Given the description of an element on the screen output the (x, y) to click on. 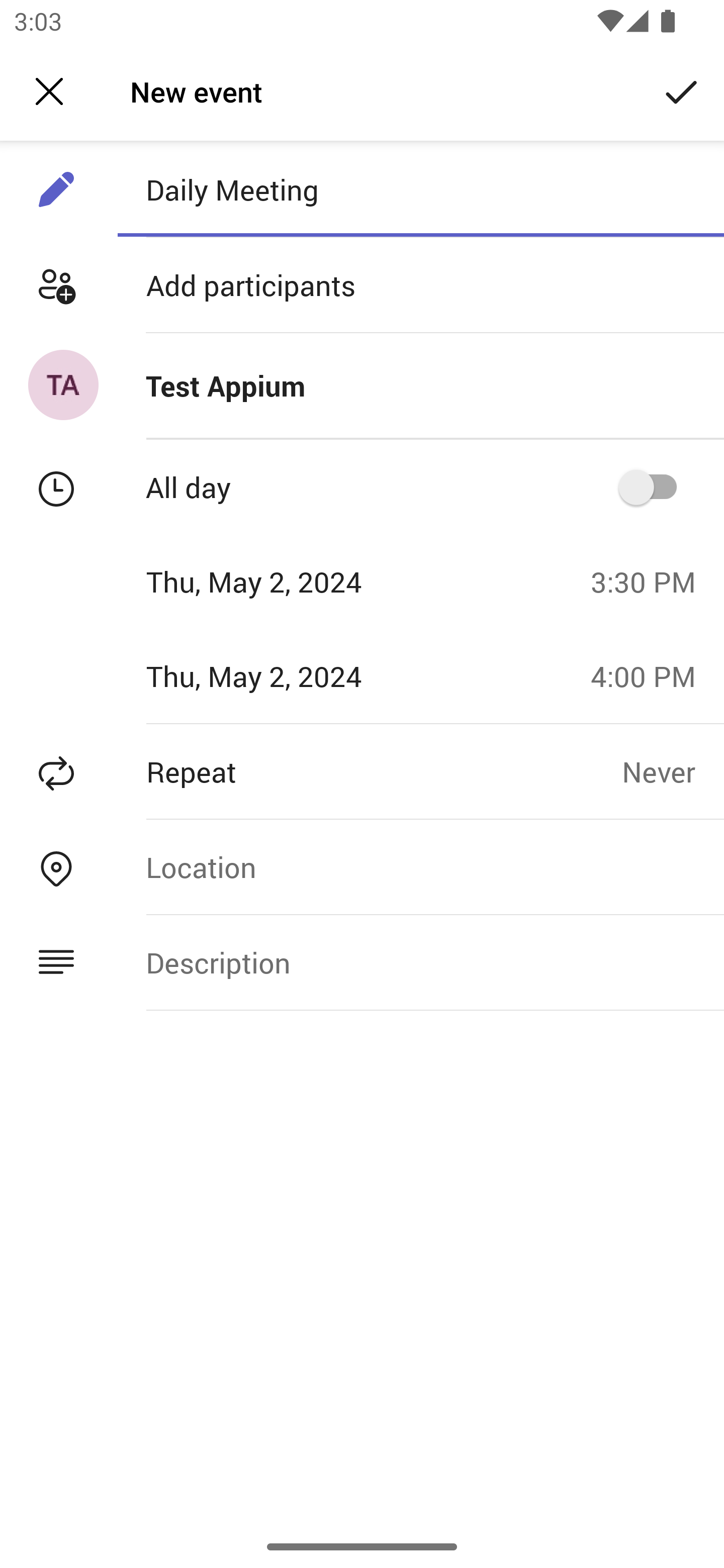
Back (49, 91)
Send invite (681, 90)
Daily Meeting (420, 189)
Add participants Add participants option (362, 285)
All day (654, 486)
Thu, May 2, 2024 Starts Thursday May 02, 2024 (288, 581)
3:30 PM Start time 3:30 PM (650, 581)
Thu, May 2, 2024 Ends Thursday May 02, 2024 (288, 675)
4:00 PM End time 4:00 PM (650, 675)
Repeat (310, 771)
Never Repeat Never (672, 771)
Location (420, 867)
Description (420, 962)
